Given the description of an element on the screen output the (x, y) to click on. 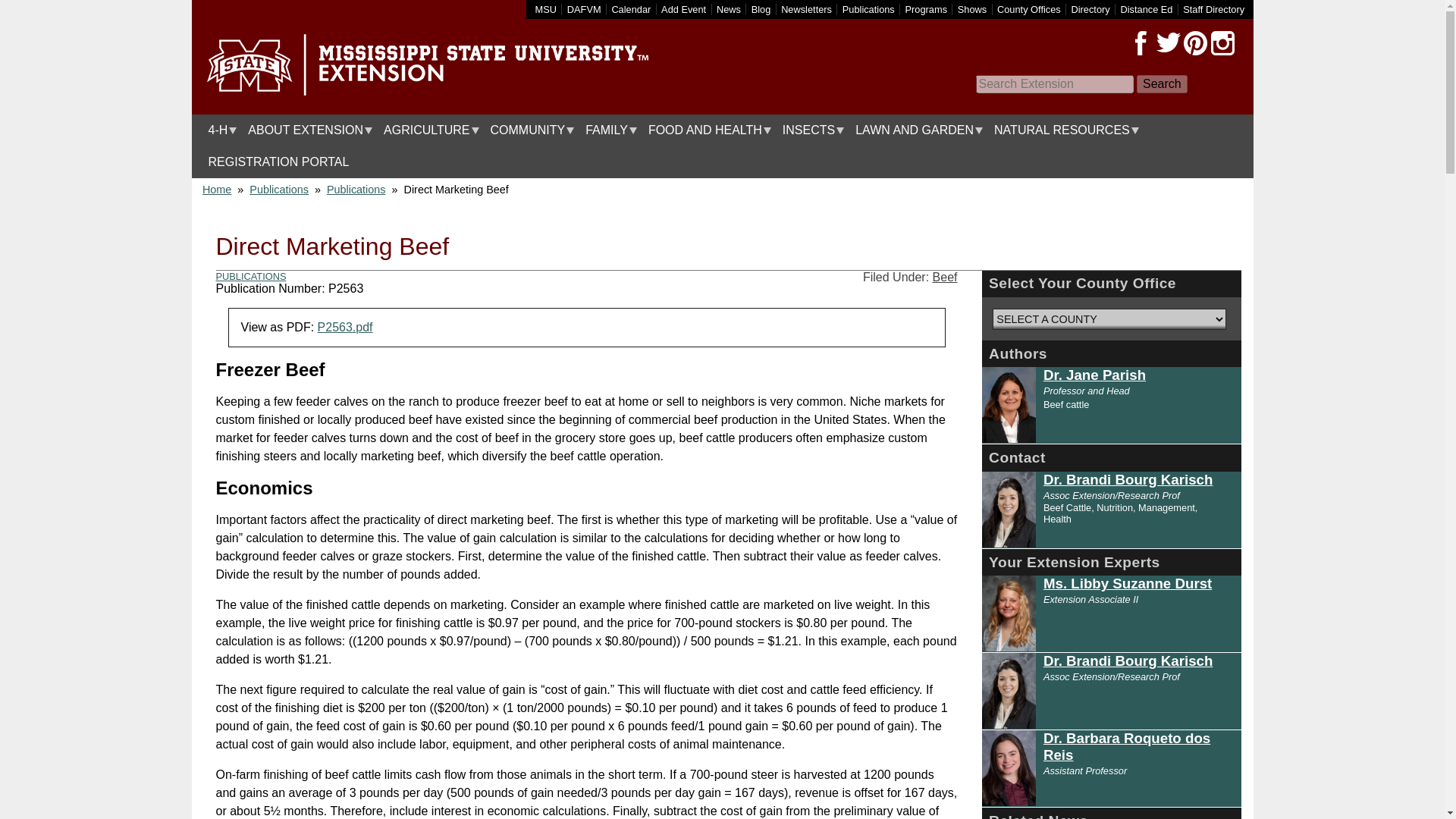
DAFVM (584, 9)
Twitter (1167, 43)
MSU (545, 9)
Instagram (1221, 43)
The main event calendar for the MSU Extension Service (630, 9)
4-H (218, 130)
Add Event (683, 9)
